Given the description of an element on the screen output the (x, y) to click on. 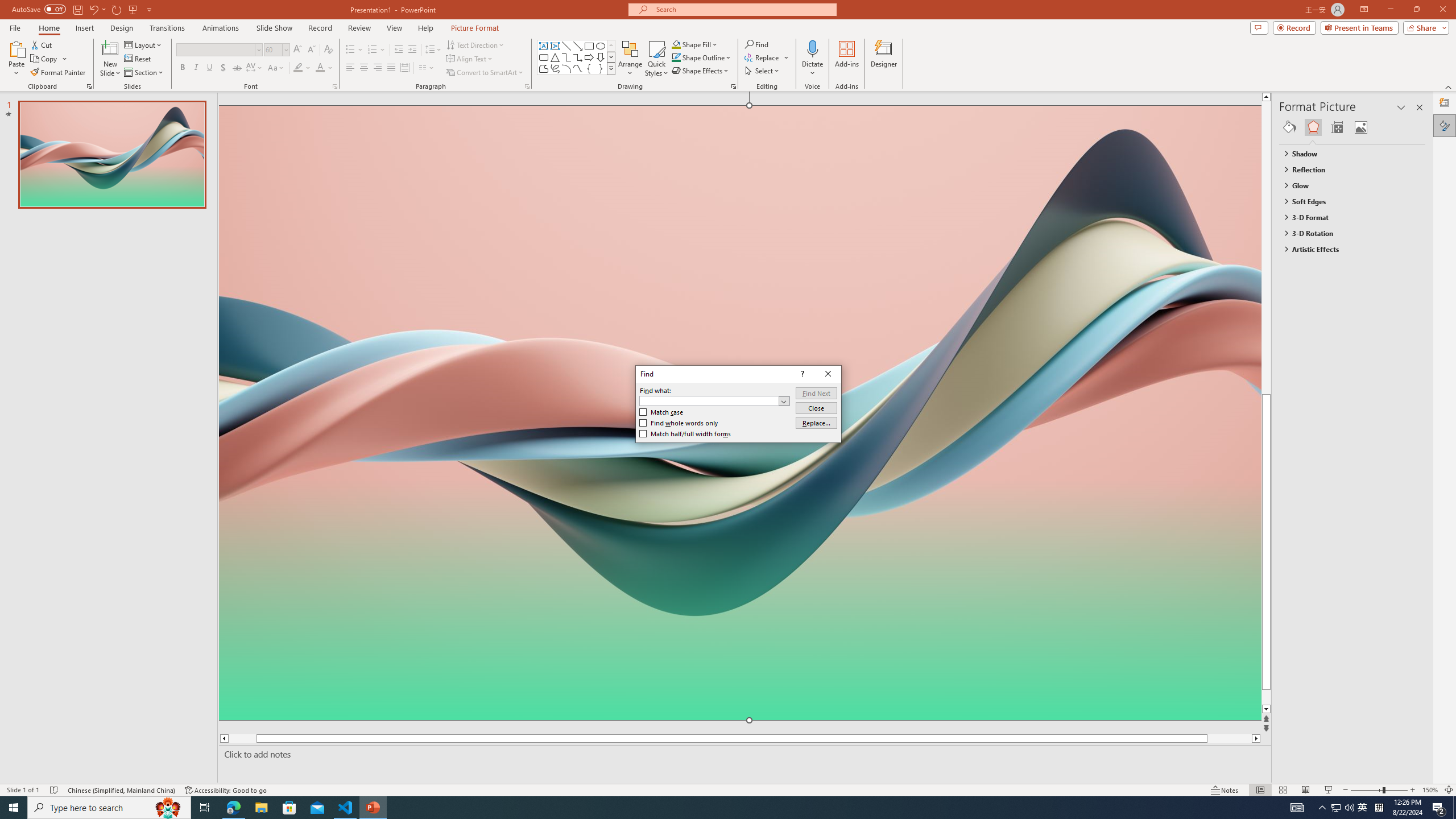
Picture (1361, 126)
